Given the description of an element on the screen output the (x, y) to click on. 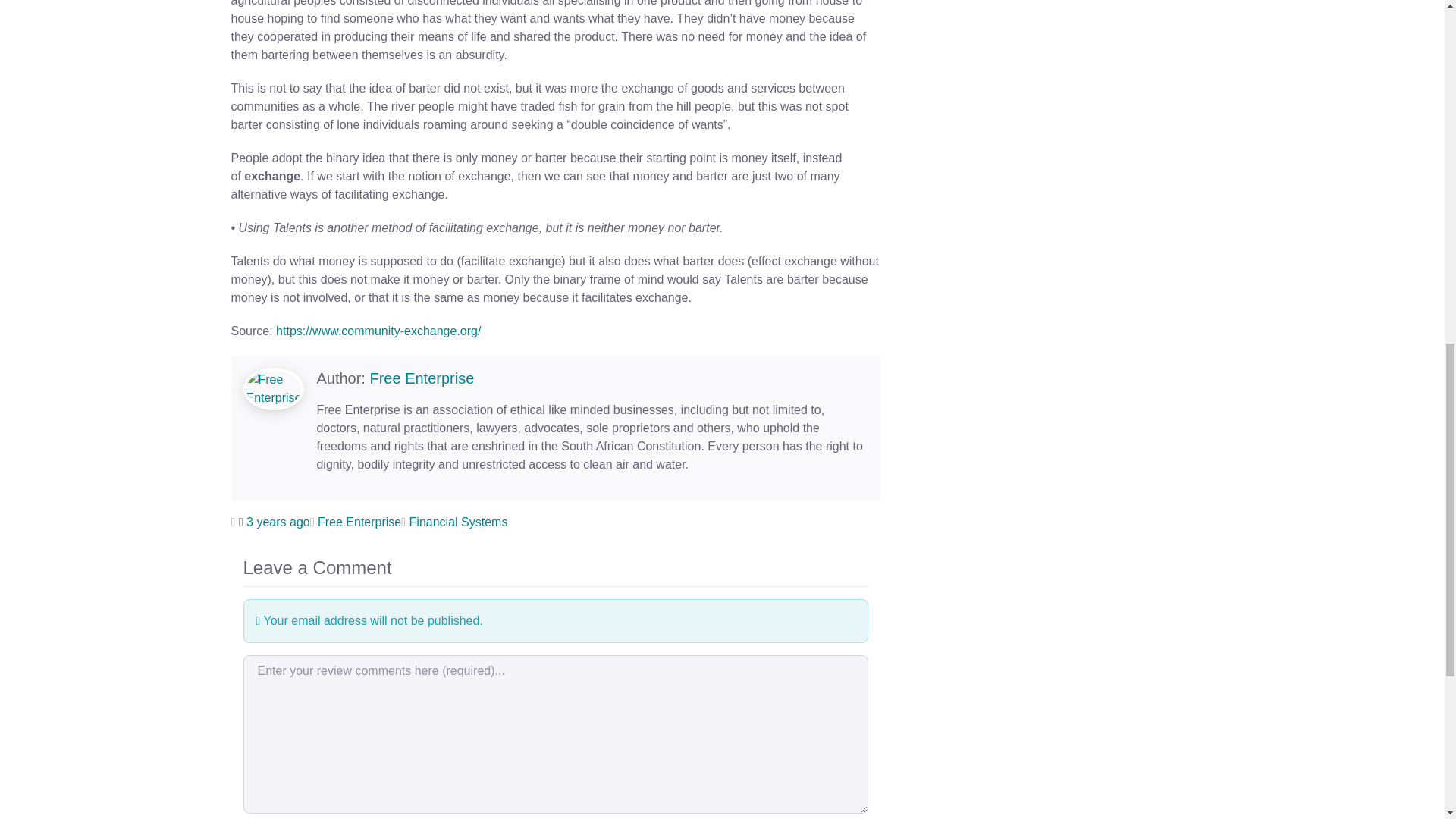
Free Enterprise (359, 521)
Free Enterprise (421, 378)
Financial Systems (458, 521)
3 years ago (274, 521)
